Given the description of an element on the screen output the (x, y) to click on. 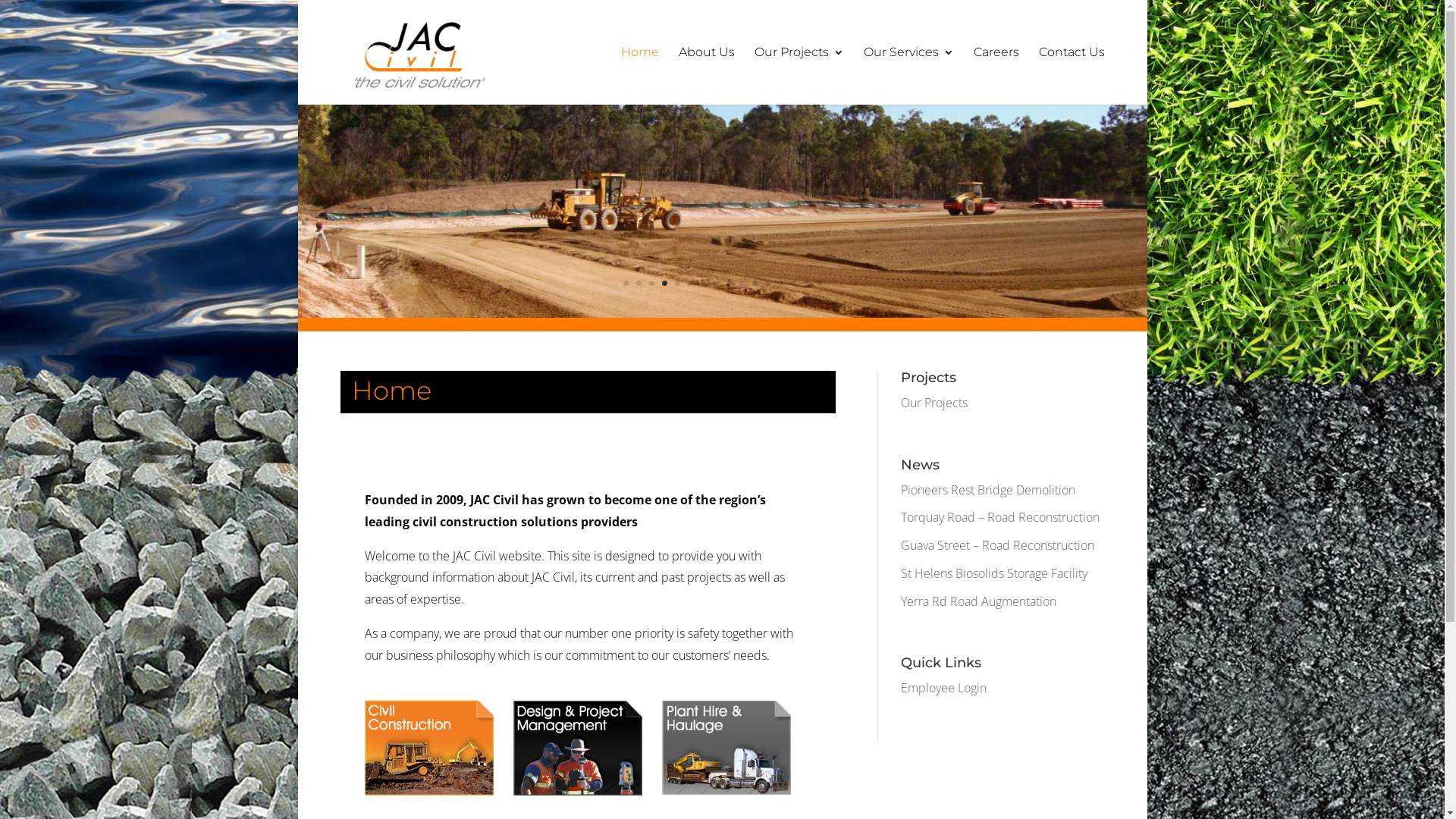
St Helens Biosolids Storage Facility Element type: text (993, 572)
5 Element type: text (677, 282)
Contact Us Element type: text (1071, 75)
15 Element type: text (806, 282)
9 Element type: text (728, 282)
14 Element type: text (792, 282)
13 Element type: text (780, 282)
Pioneers Rest Bridge Demolition Element type: text (987, 489)
7 Element type: text (703, 282)
16 Element type: text (818, 282)
Our Services Element type: text (907, 75)
8 Element type: text (715, 282)
3 Element type: text (651, 282)
12 Element type: text (766, 282)
Careers Element type: text (996, 75)
10 Element type: text (740, 282)
About Us Element type: text (705, 75)
Yerra Rd Road Augmentation Element type: text (978, 601)
11 Element type: text (754, 282)
Our Projects Element type: text (798, 75)
Home Element type: text (639, 75)
Our Projects Element type: text (933, 402)
4 Element type: text (663, 282)
1 Element type: text (625, 282)
2 Element type: text (637, 282)
6 Element type: text (689, 282)
Employee Login Element type: text (943, 687)
banner_grader_roller Element type: hover (721, 312)
